Given the description of an element on the screen output the (x, y) to click on. 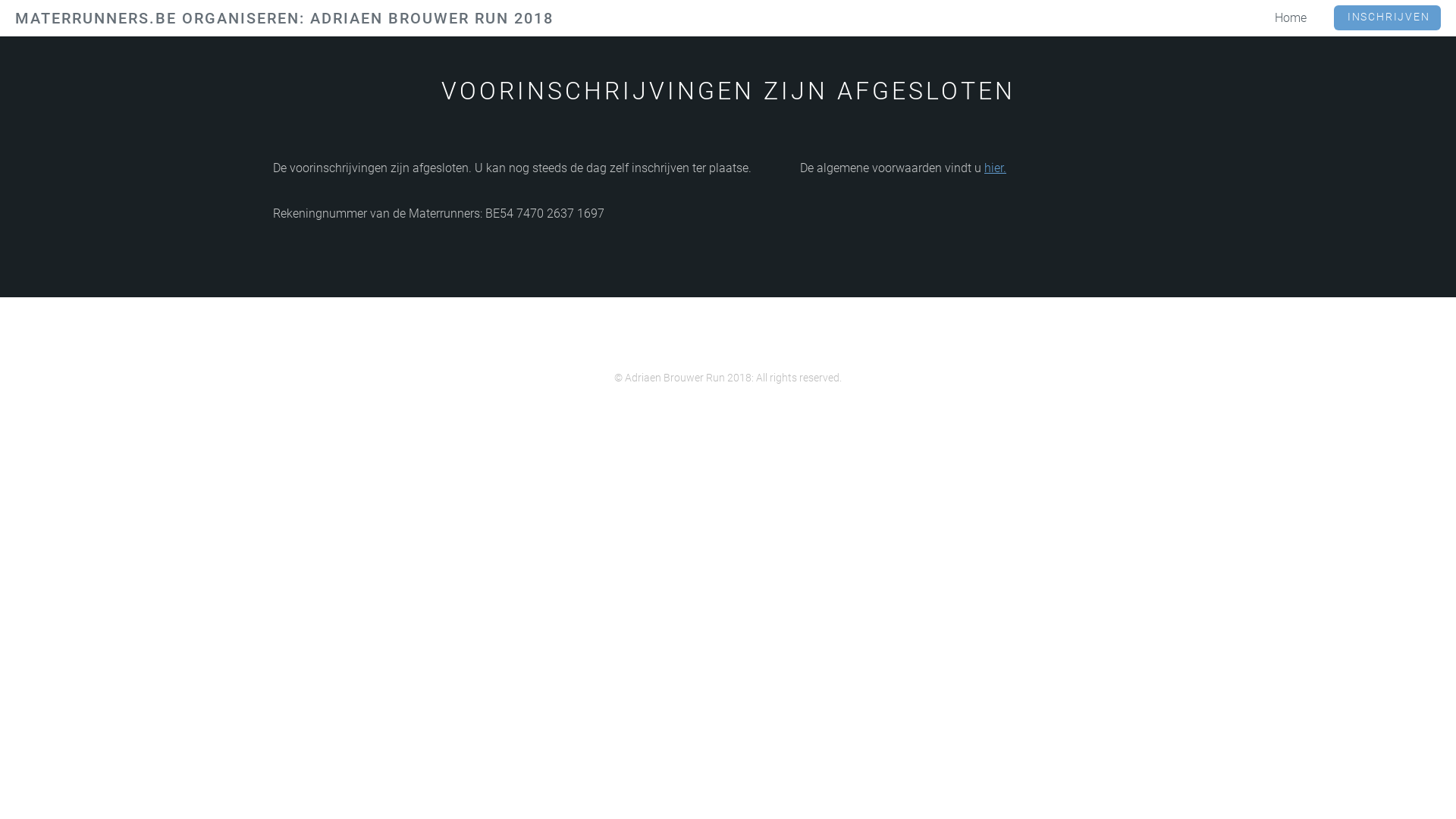
hier. Element type: text (995, 167)
Home Element type: text (1290, 18)
INSCHRIJVEN Element type: text (1386, 17)
MATERRUNNERS.BE ORGANISEREN: ADRIAEN BROUWER RUN 2018 Element type: text (284, 18)
